Given the description of an element on the screen output the (x, y) to click on. 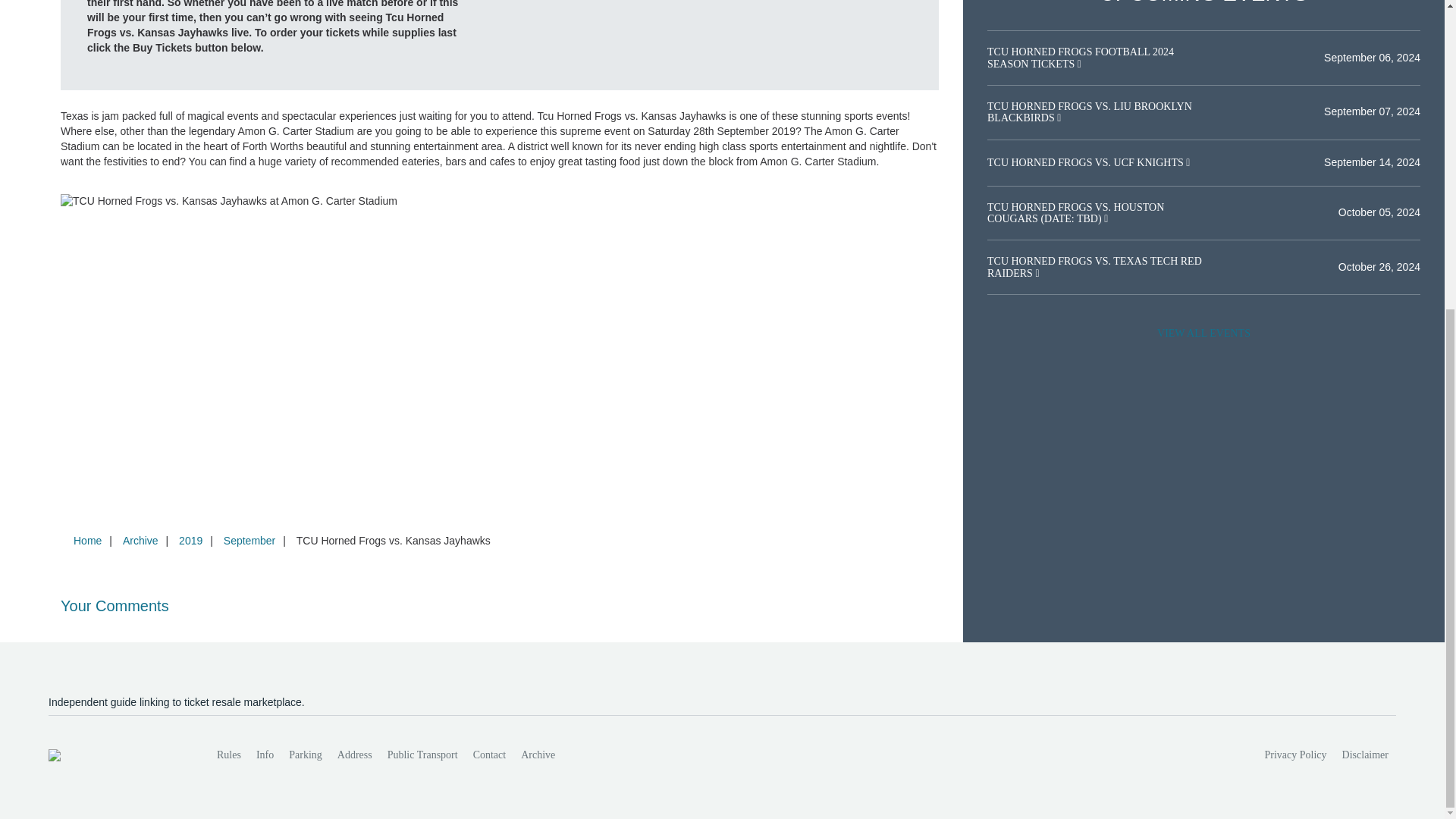
VIEW ALL EVENTS (1203, 333)
Public Transport (422, 755)
Parking (305, 755)
Rules (228, 755)
Info (264, 755)
2019 (190, 540)
TCU HORNED FROGS VS. LIU BROOKLYN BLACKBIRDS (1089, 111)
Privacy Policy (1296, 755)
